Given the description of an element on the screen output the (x, y) to click on. 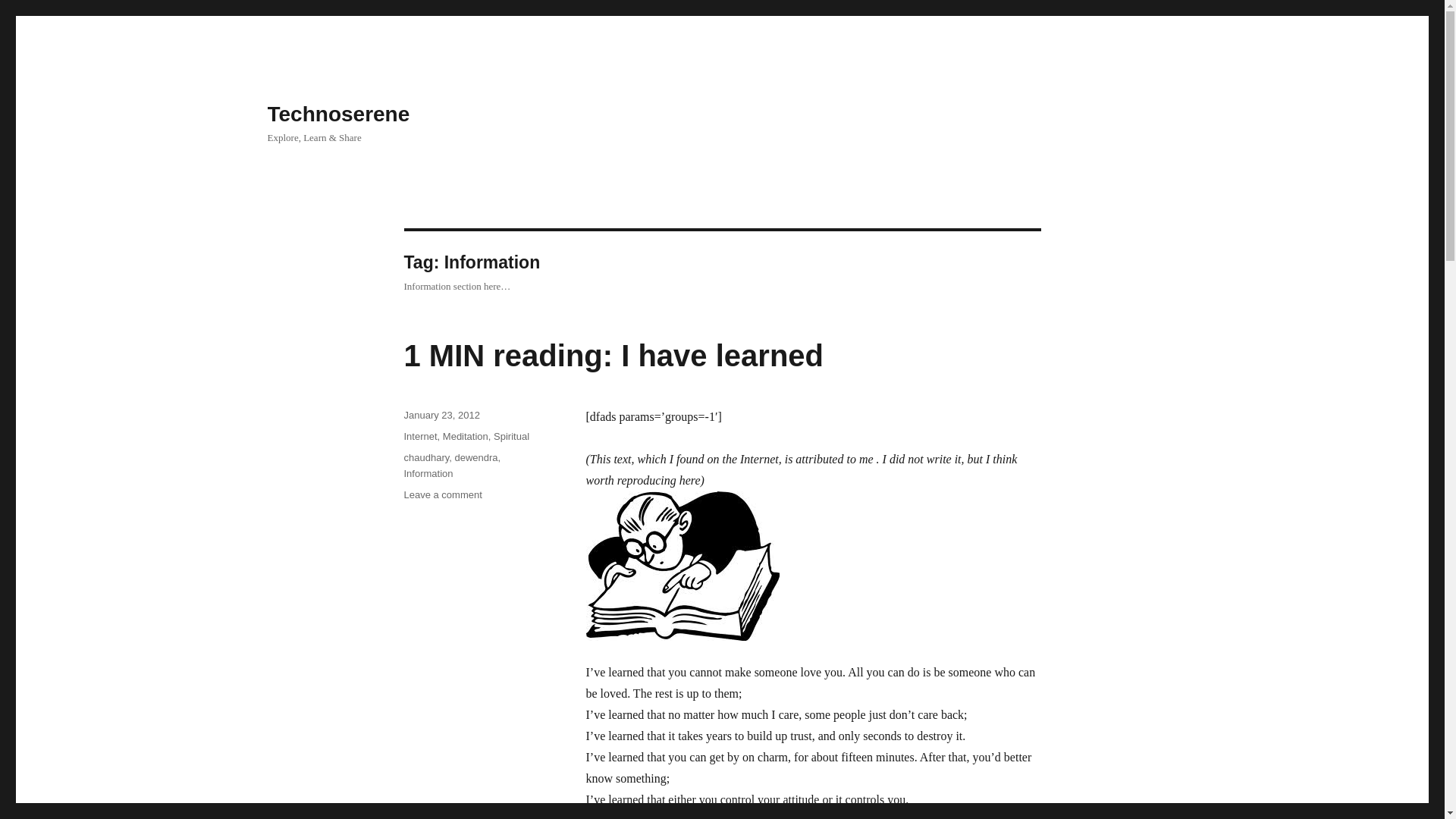
Spiritual (511, 436)
Meditation (464, 436)
1 MIN reading: I have learned (613, 355)
images (681, 565)
Information (427, 473)
Internet (442, 494)
chaudhary (419, 436)
dewendra (425, 457)
January 23, 2012 (475, 457)
Technoserene (441, 414)
